Given the description of an element on the screen output the (x, y) to click on. 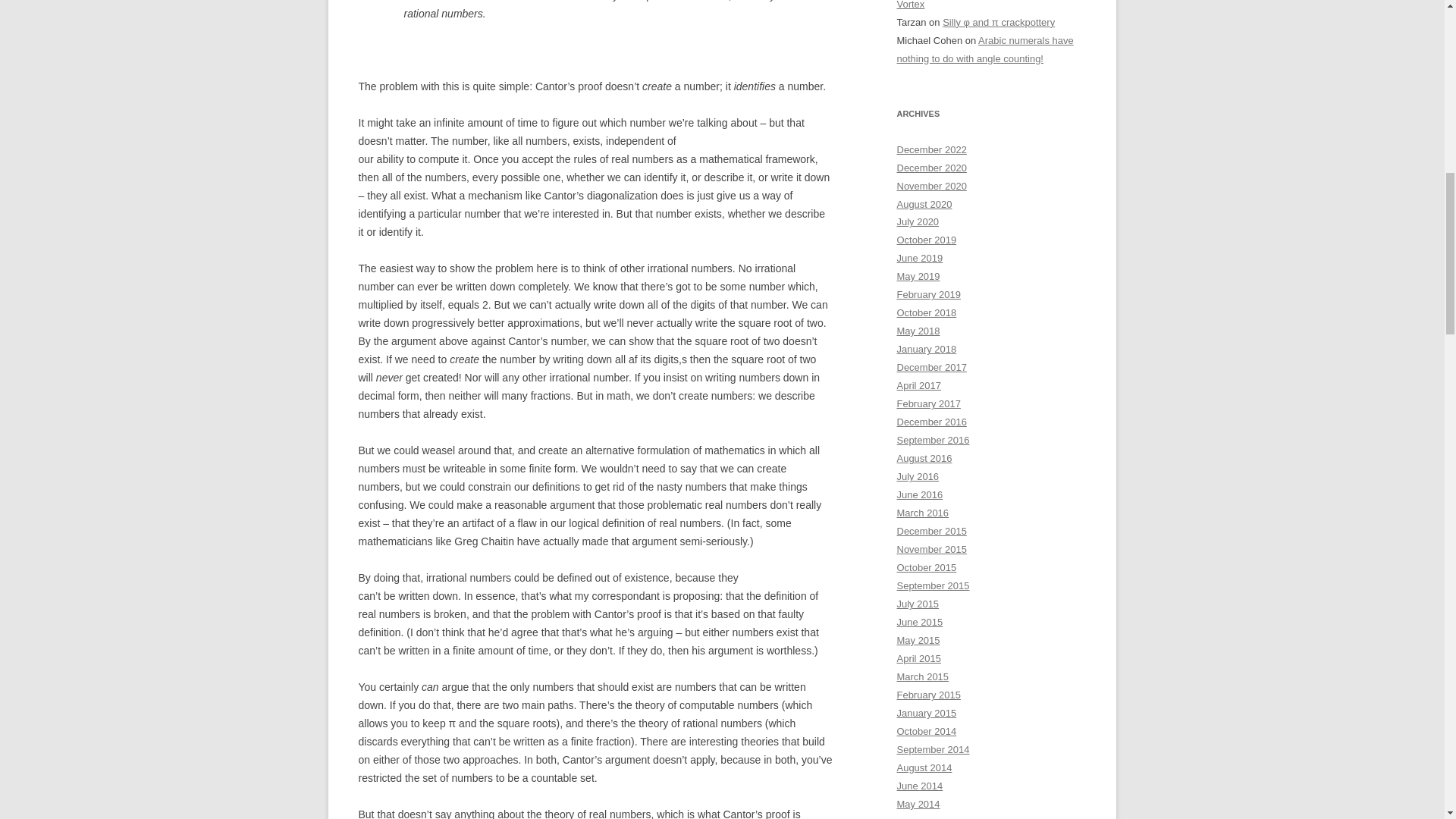
Zombie Math in the Vortex (985, 4)
